Given the description of an element on the screen output the (x, y) to click on. 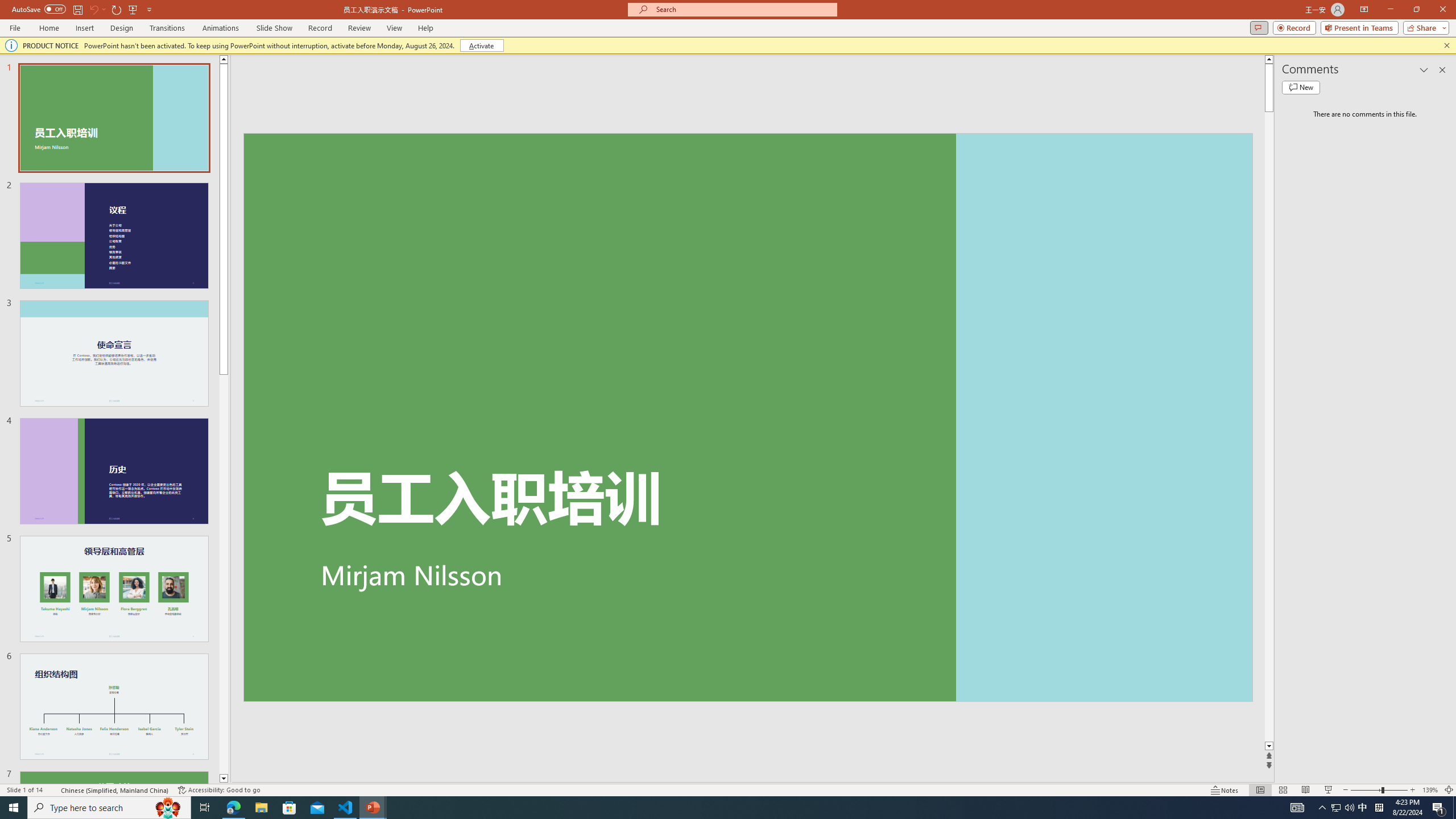
New comment (1300, 87)
Zoom 139% (1430, 790)
Close this message (1446, 45)
